Given the description of an element on the screen output the (x, y) to click on. 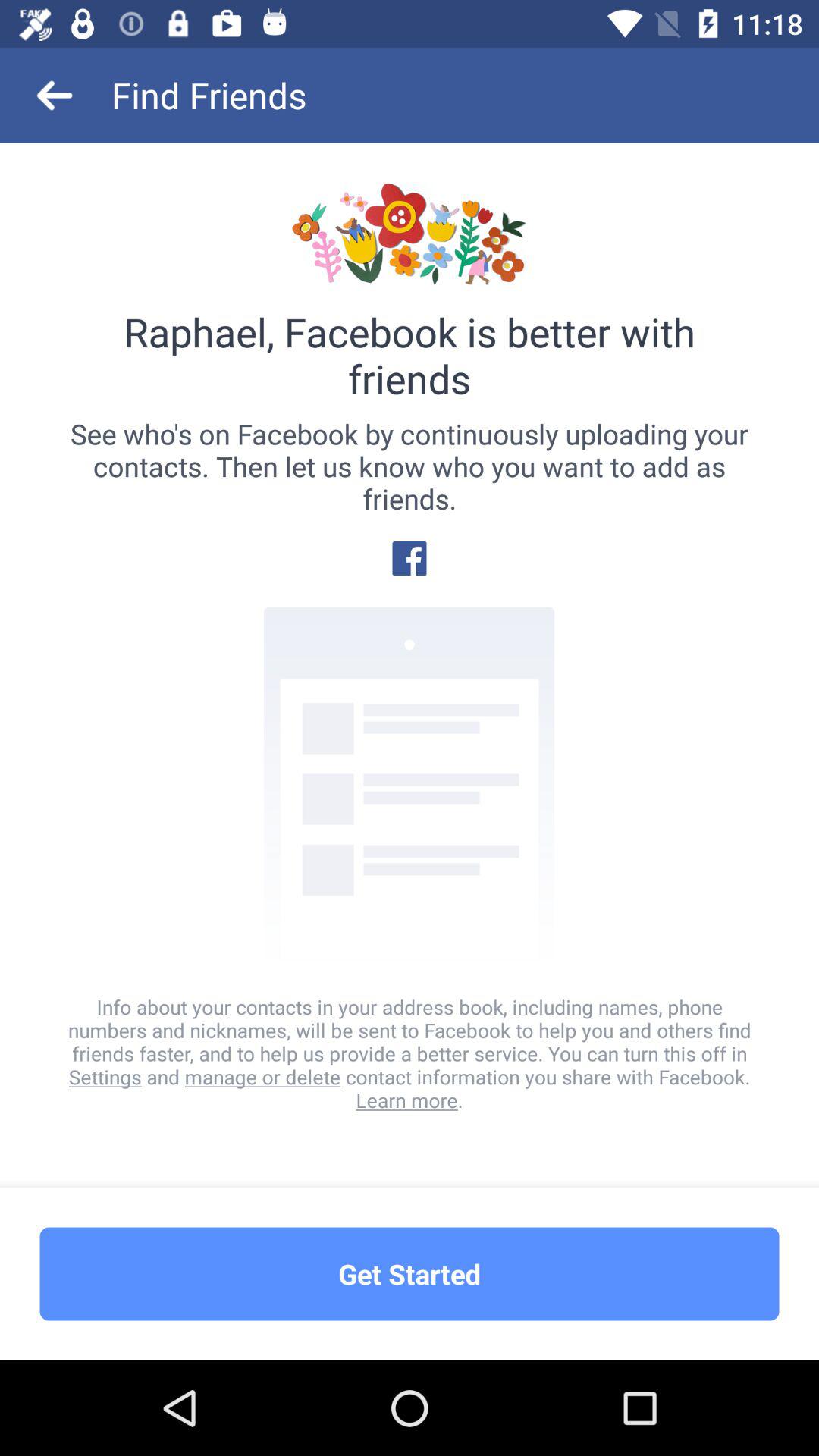
launch the get started item (409, 1273)
